Given the description of an element on the screen output the (x, y) to click on. 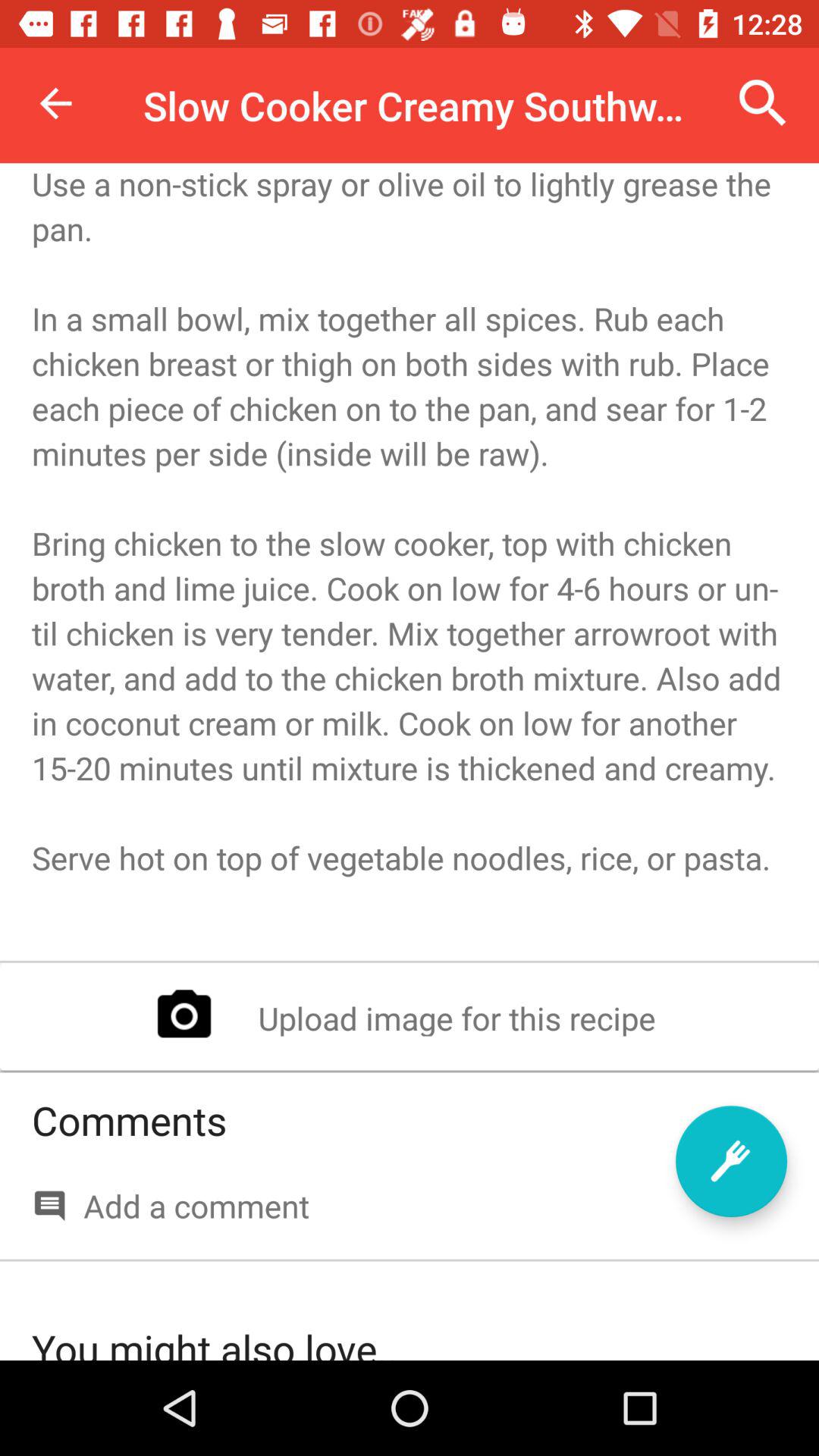
launch the item to the right of the comments item (731, 1161)
